Given the description of an element on the screen output the (x, y) to click on. 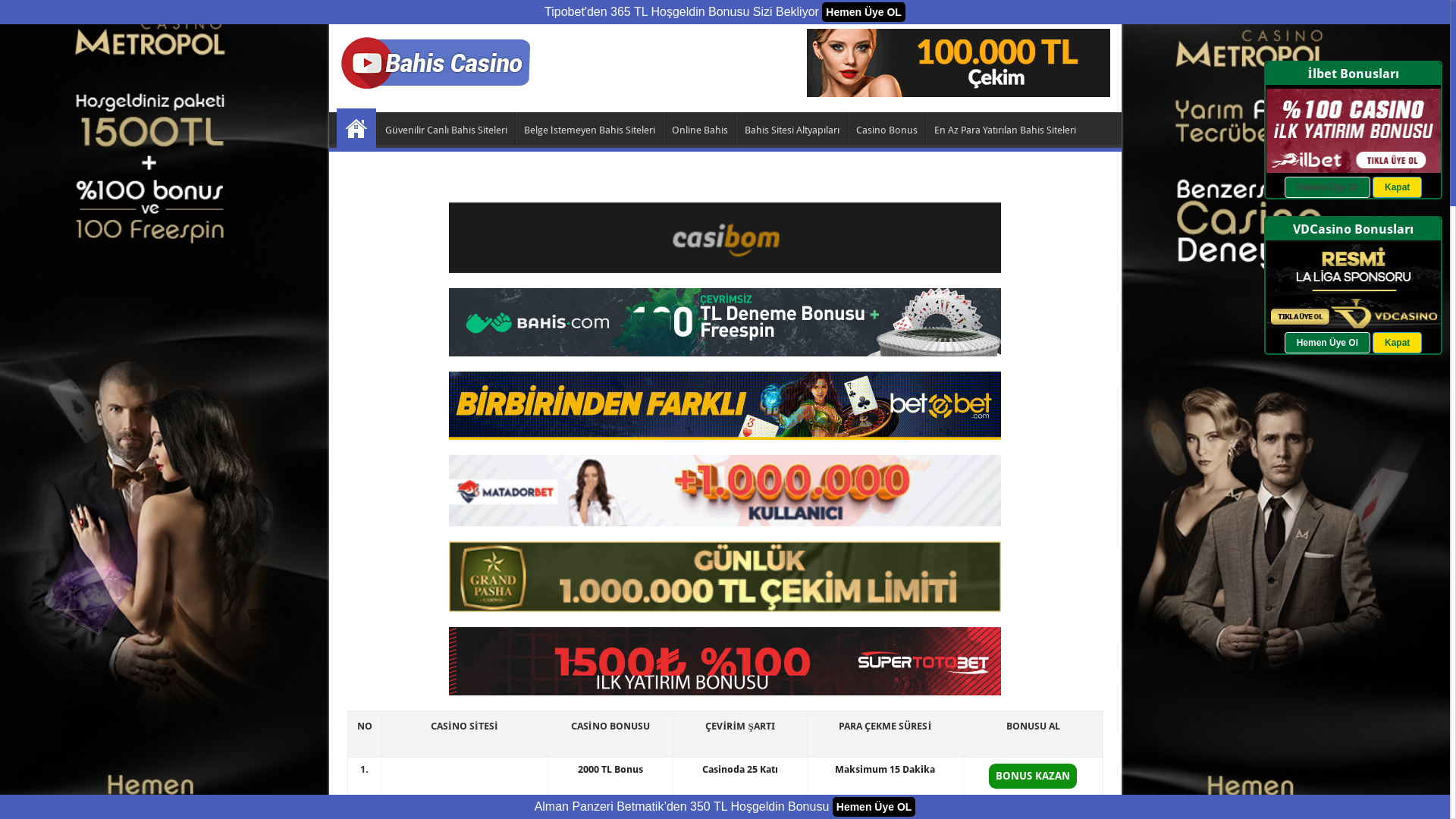
Kapat Element type: text (1396, 342)
casino siteleri 2021 Element type: hover (958, 61)
Online Bahis Element type: text (699, 128)
Kapat Element type: text (1396, 186)
BONUS KAZAN Element type: text (1032, 775)
Casino Bonus Element type: text (886, 128)
